Given the description of an element on the screen output the (x, y) to click on. 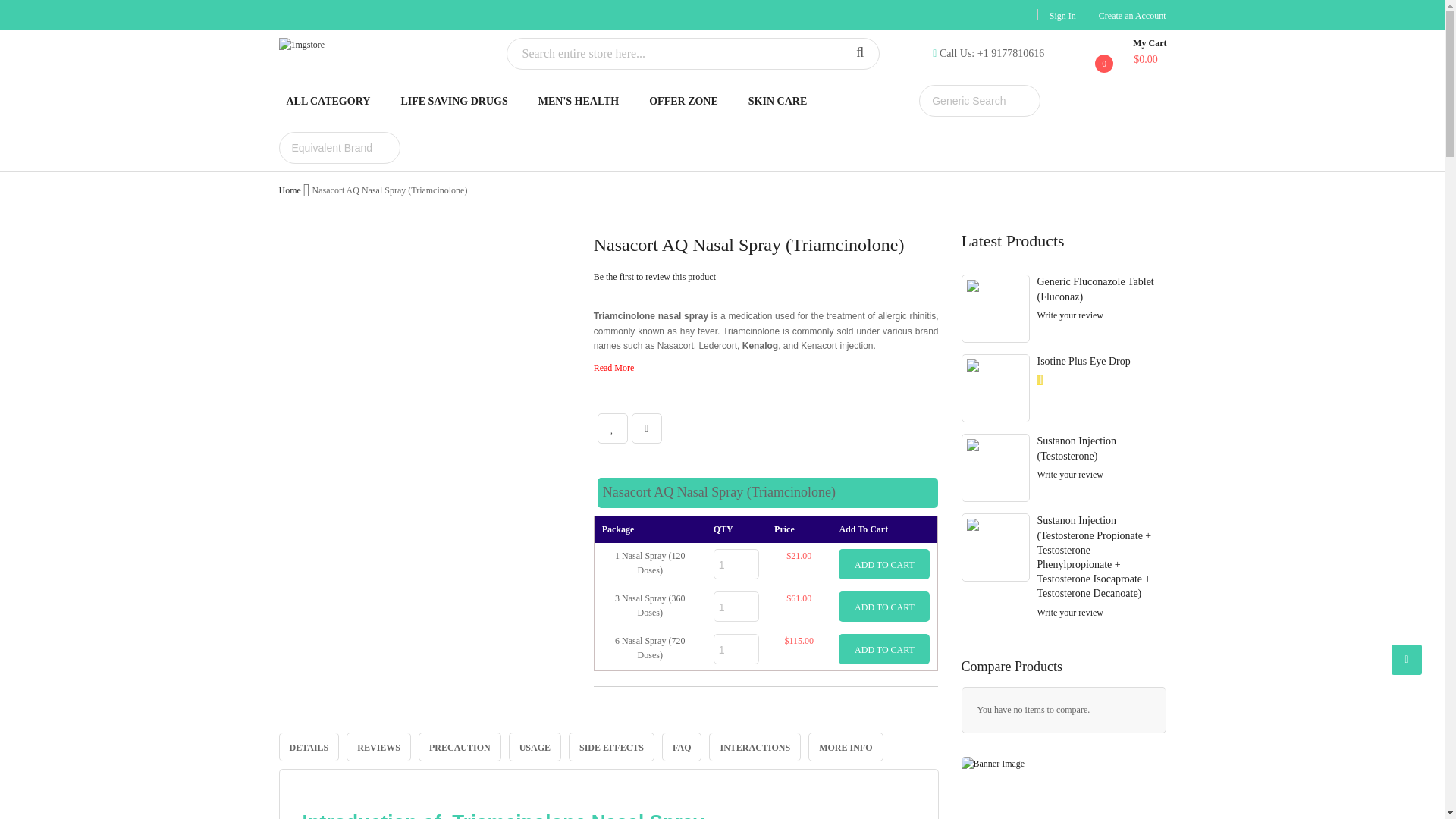
Go to Home Page (290, 190)
1mgstore (381, 44)
Create an Account (1132, 15)
ALL CATEGORY (328, 100)
Search (859, 53)
Sign In (1062, 15)
